Given the description of an element on the screen output the (x, y) to click on. 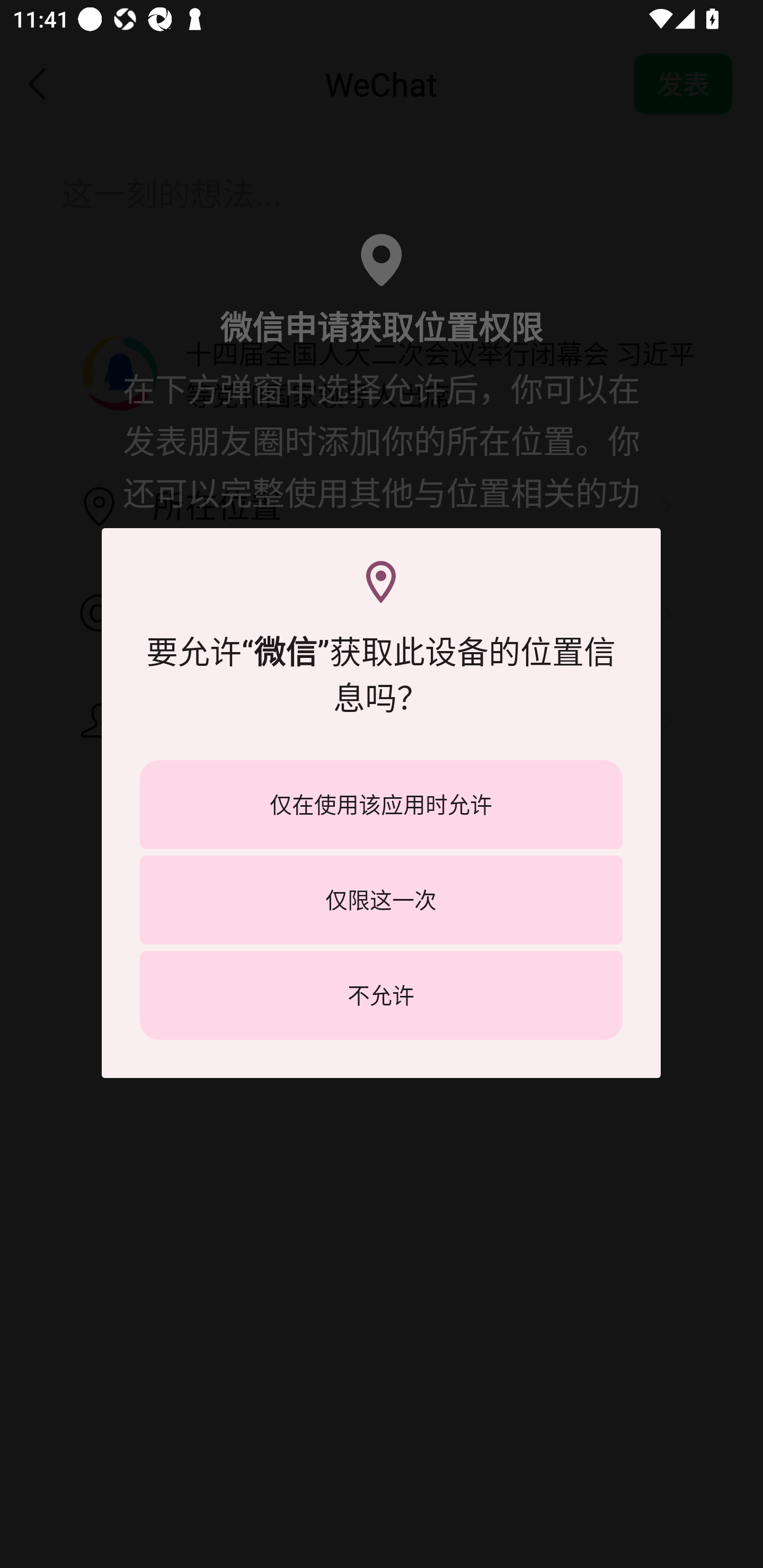
仅在使用该应用时允许 (380, 804)
仅限这一次 (380, 899)
不允许 (380, 994)
